Given the description of an element on the screen output the (x, y) to click on. 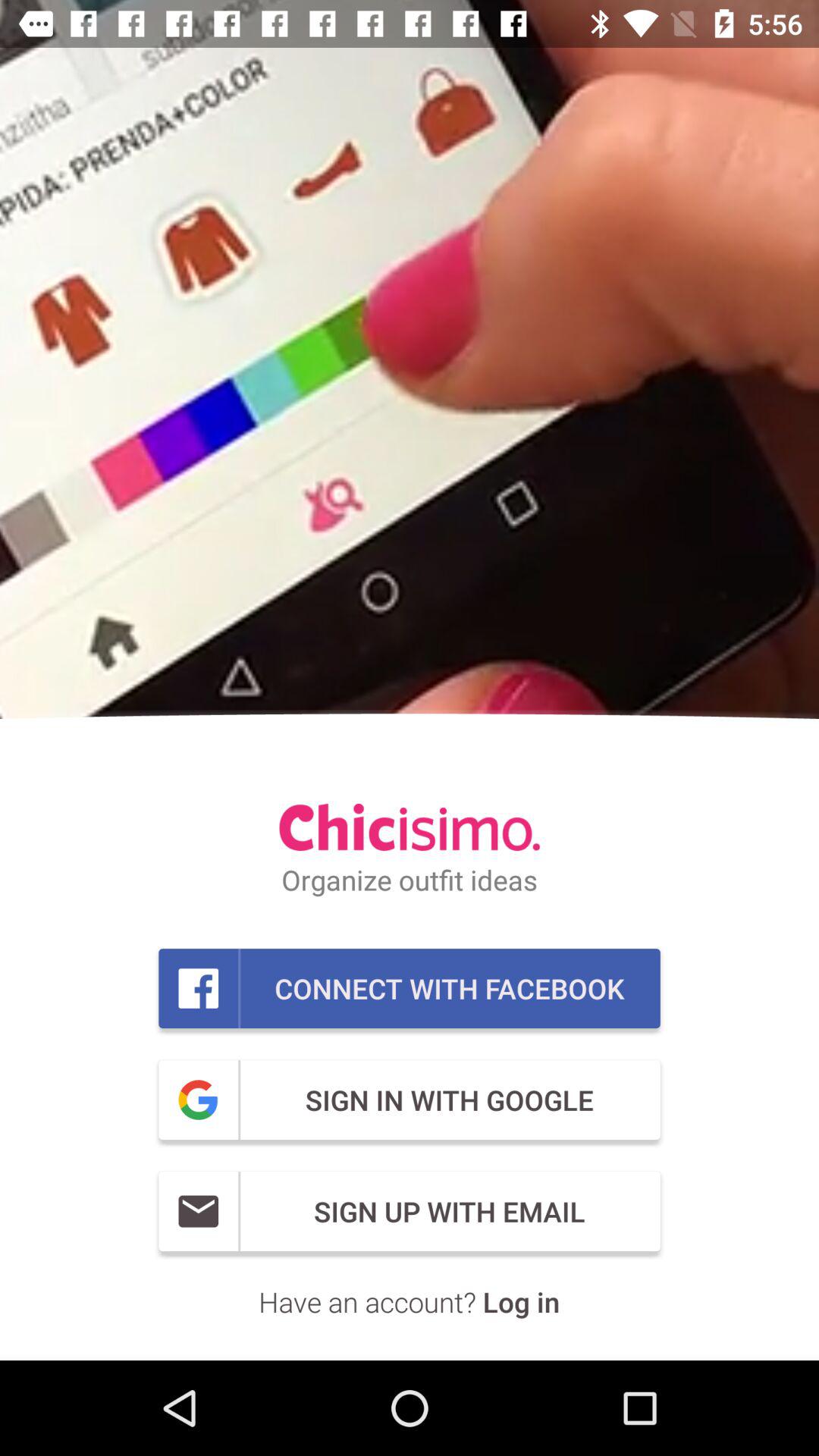
flip to have an account (408, 1301)
